Given the description of an element on the screen output the (x, y) to click on. 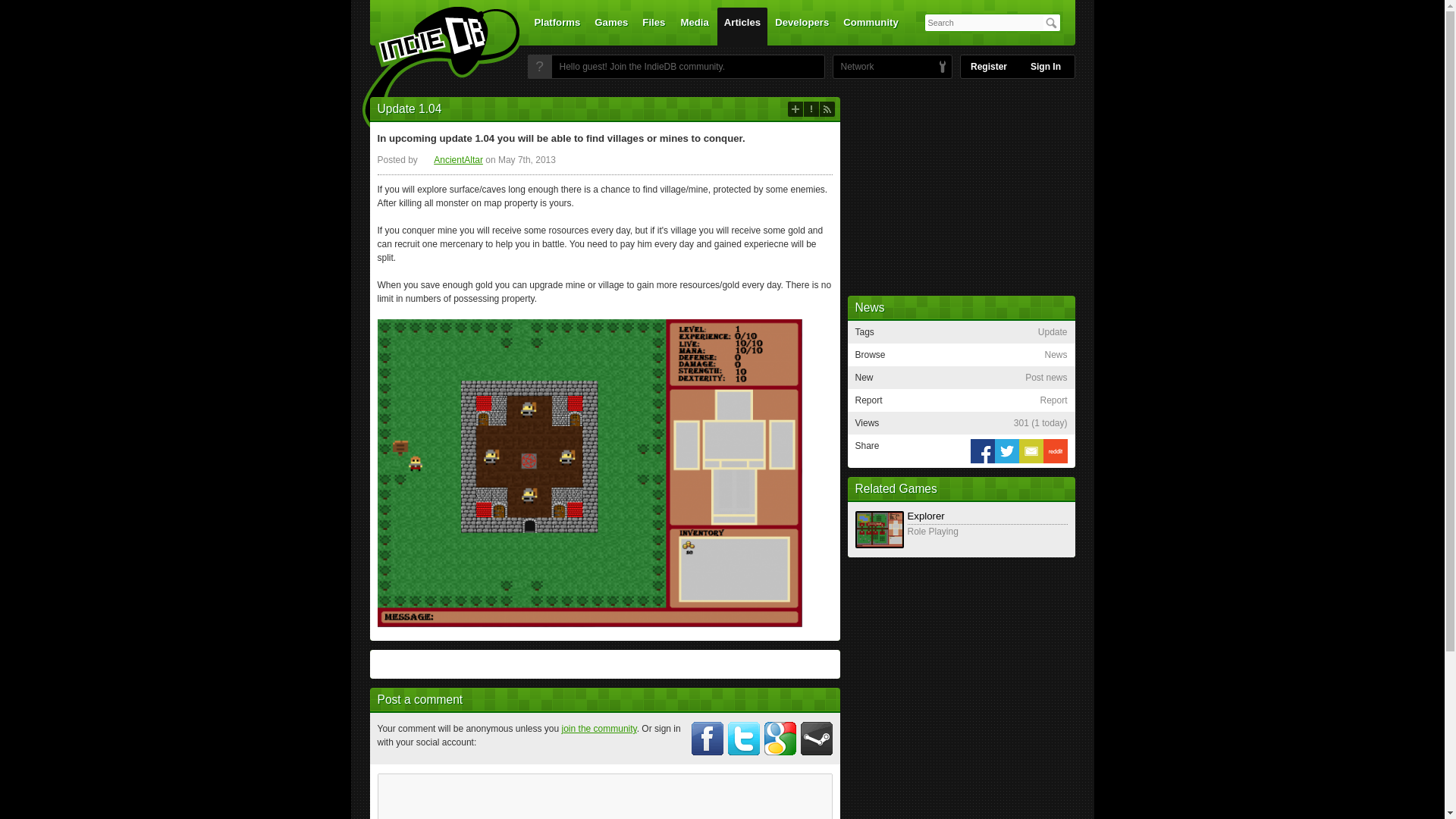
Join IndieDB (539, 66)
Home (430, 70)
Search (1050, 22)
Platforms (557, 26)
Articles (742, 26)
Article Manager (451, 159)
Developers (801, 26)
Files (652, 26)
Community (870, 26)
Village - Indie DB (589, 471)
RSS (826, 109)
Click to connect via Google (780, 738)
Report (810, 109)
Games (611, 26)
